Given the description of an element on the screen output the (x, y) to click on. 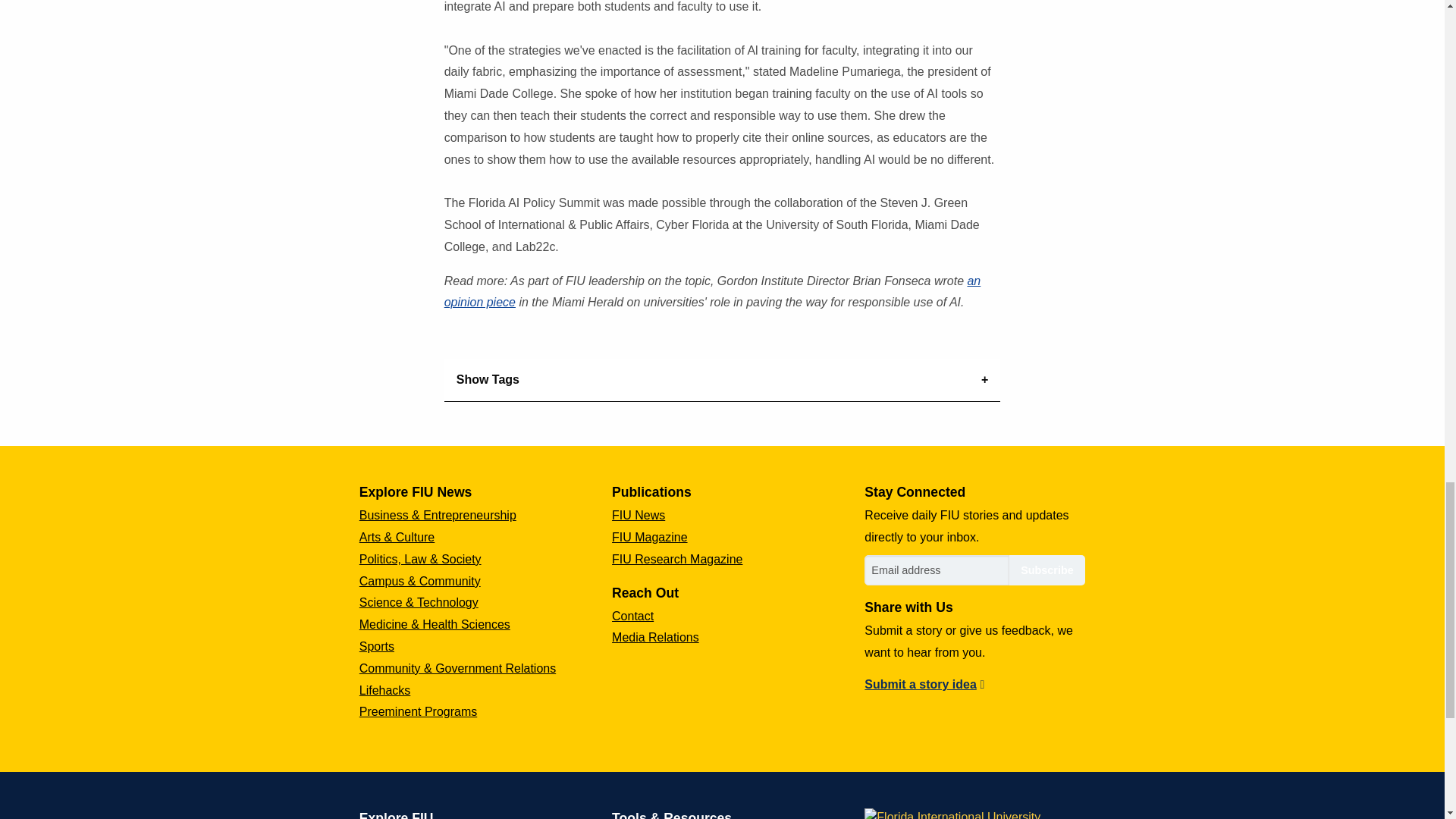
Sports (376, 645)
Subscribe (1046, 570)
an opinion piece (712, 291)
Show Tags (722, 380)
FIU News (638, 514)
Lifehacks (384, 689)
Preeminent Programs (418, 711)
